Given the description of an element on the screen output the (x, y) to click on. 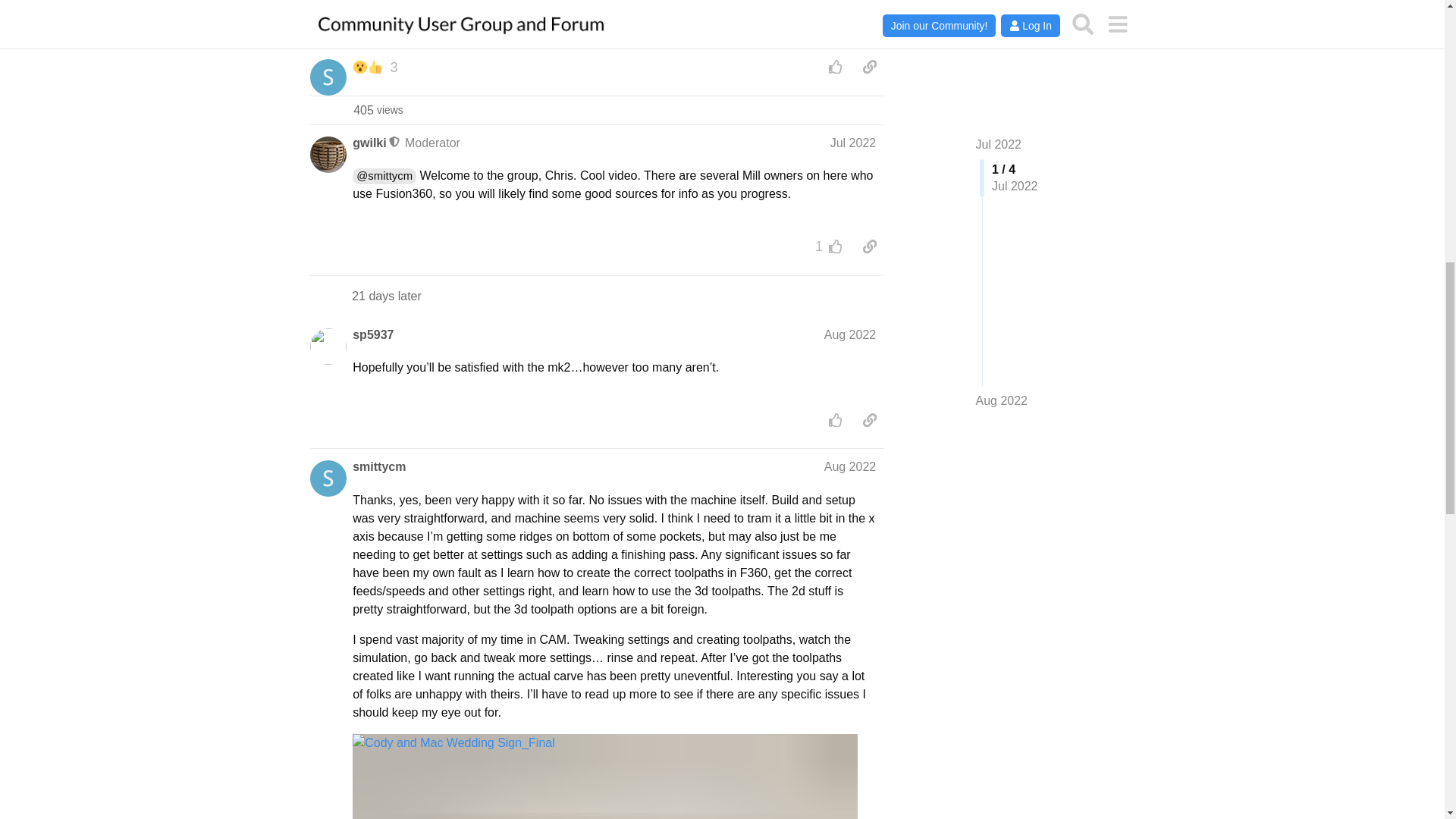
Please sign up or log in to like this post (377, 109)
gwilki (835, 66)
Jul 2022 (368, 143)
